Given the description of an element on the screen output the (x, y) to click on. 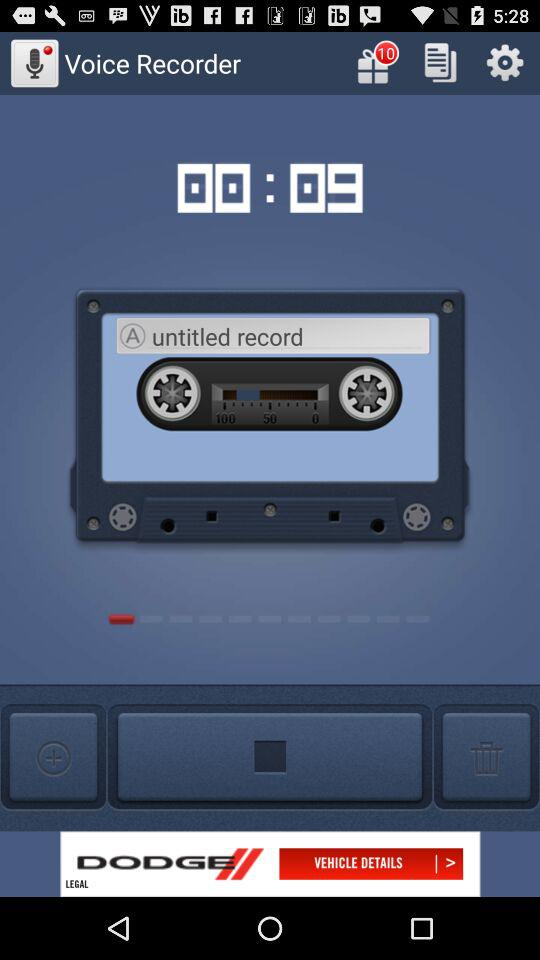
open settings (504, 62)
